Given the description of an element on the screen output the (x, y) to click on. 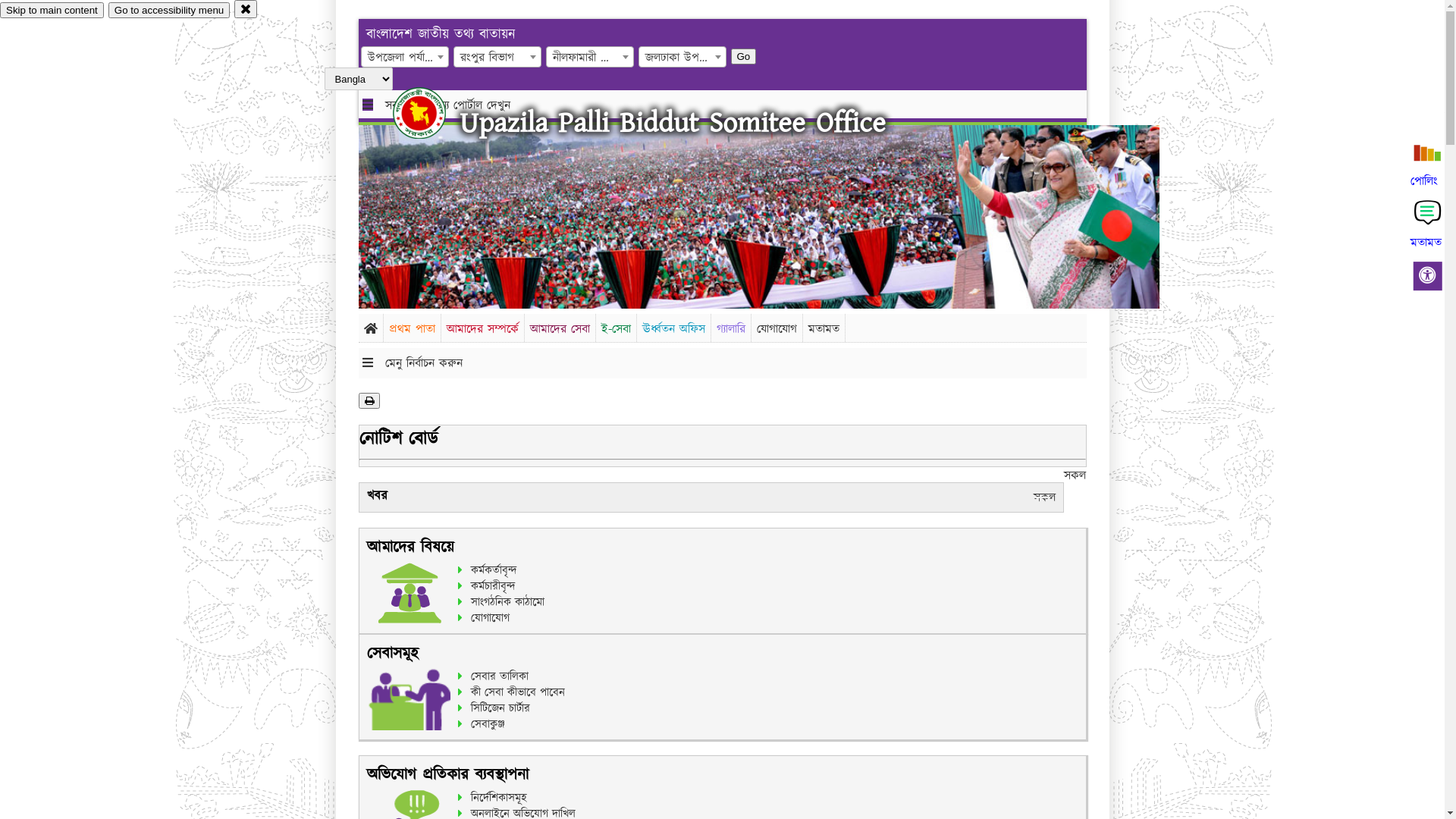
Go Element type: text (743, 56)
Skip to main content Element type: text (51, 10)
Go to accessibility menu Element type: text (168, 10)
Upazila Palli Biddut Somitee Office Element type: text (672, 123)

                
             Element type: hover (431, 112)
close Element type: hover (245, 9)
